Given the description of an element on the screen output the (x, y) to click on. 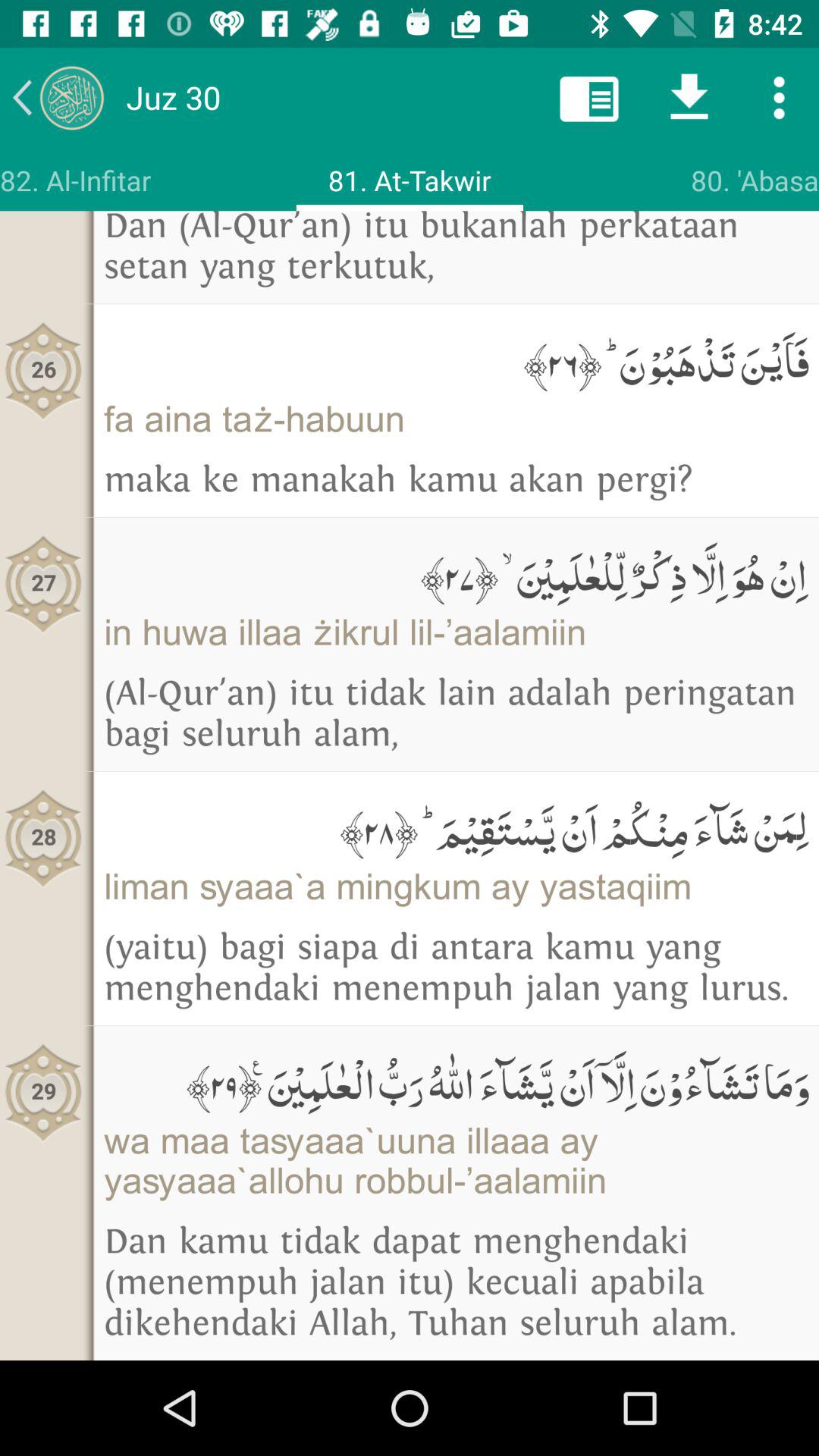
turn on item below 28 icon (43, 1092)
